Given the description of an element on the screen output the (x, y) to click on. 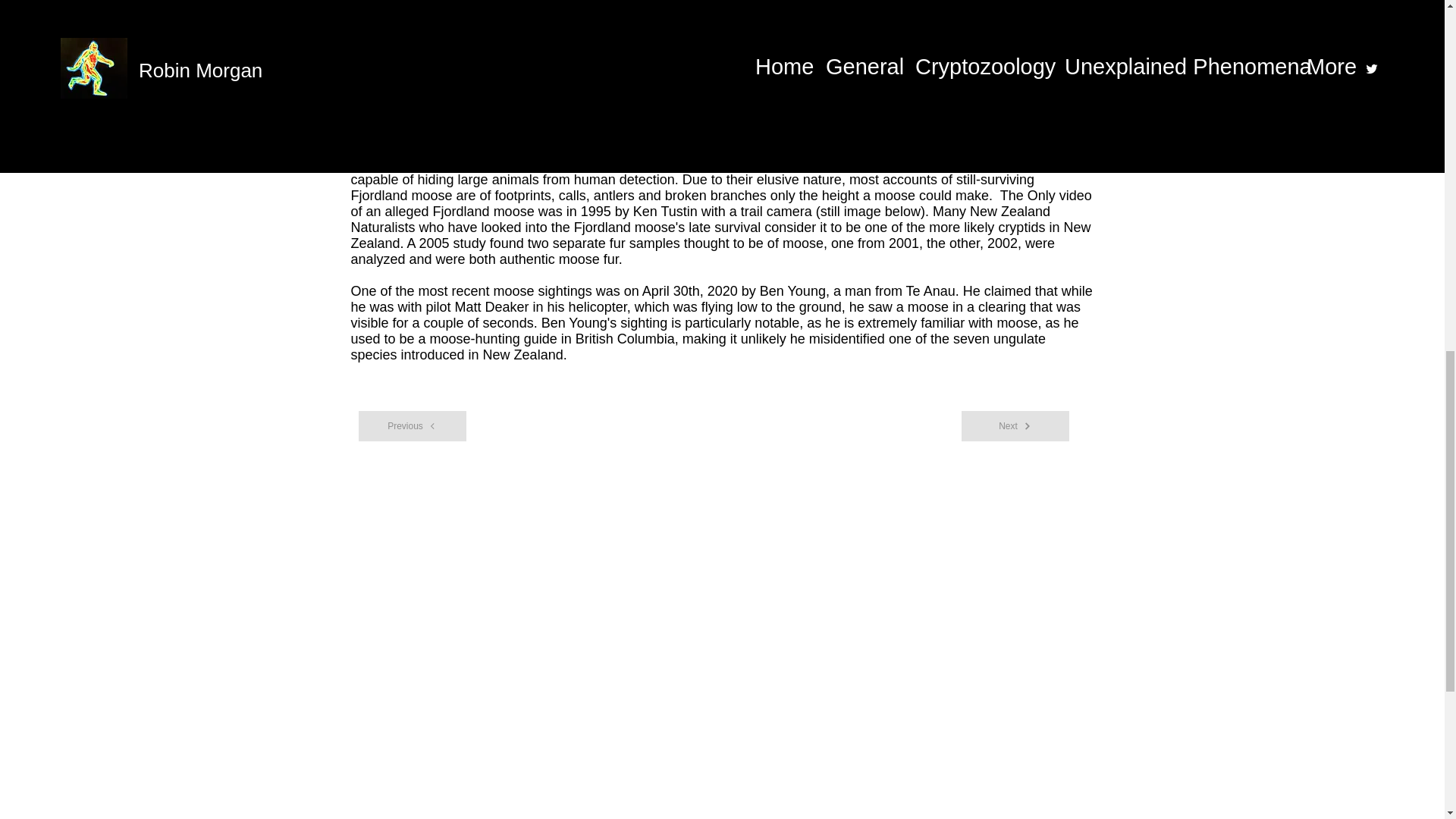
Previous (411, 426)
Next (1014, 426)
